Given the description of an element on the screen output the (x, y) to click on. 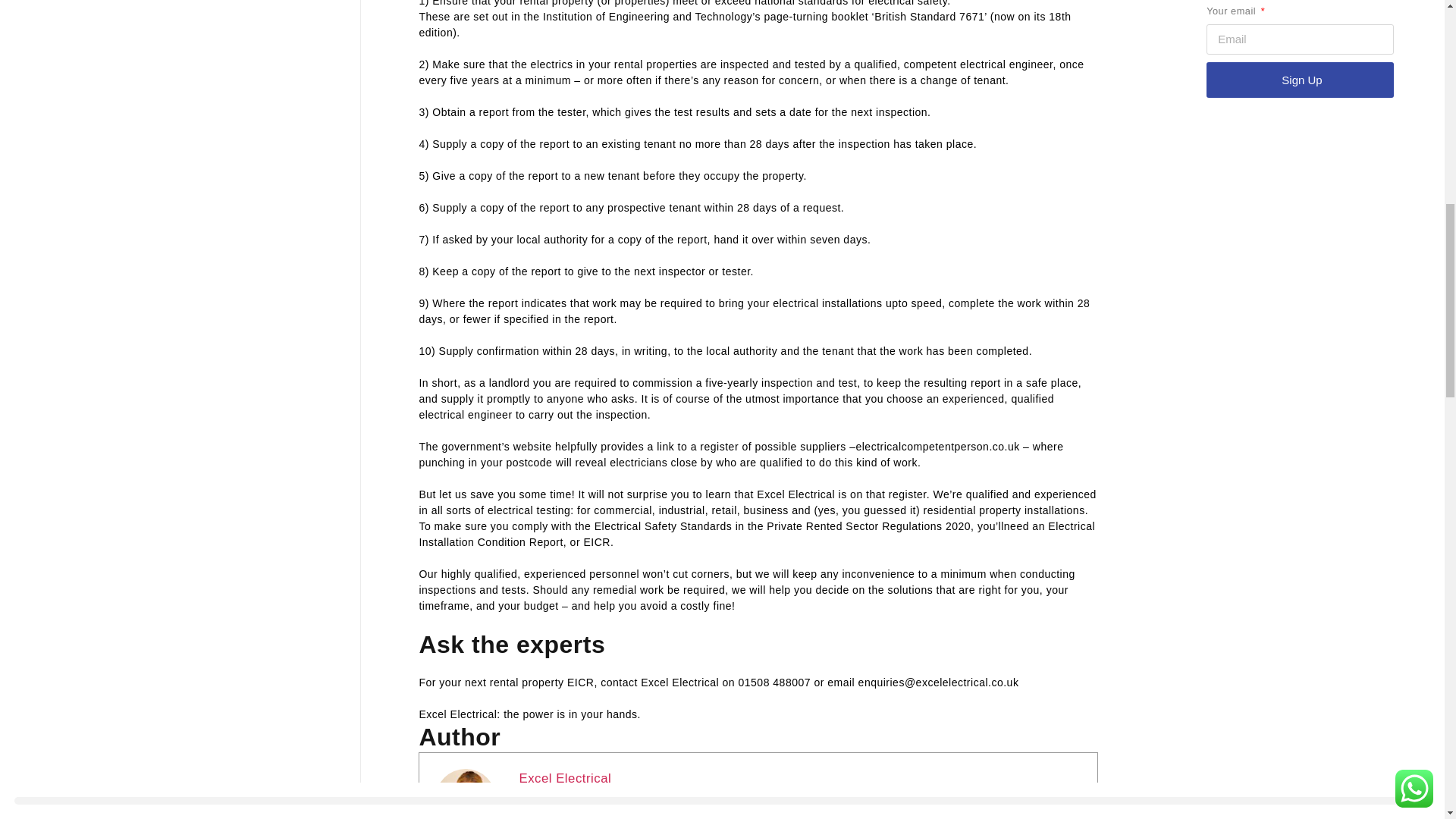
View all posts (569, 811)
Sign Up (1300, 79)
Excel Electrical (564, 778)
View all posts (569, 811)
Excel Electrical (564, 778)
